Given the description of an element on the screen output the (x, y) to click on. 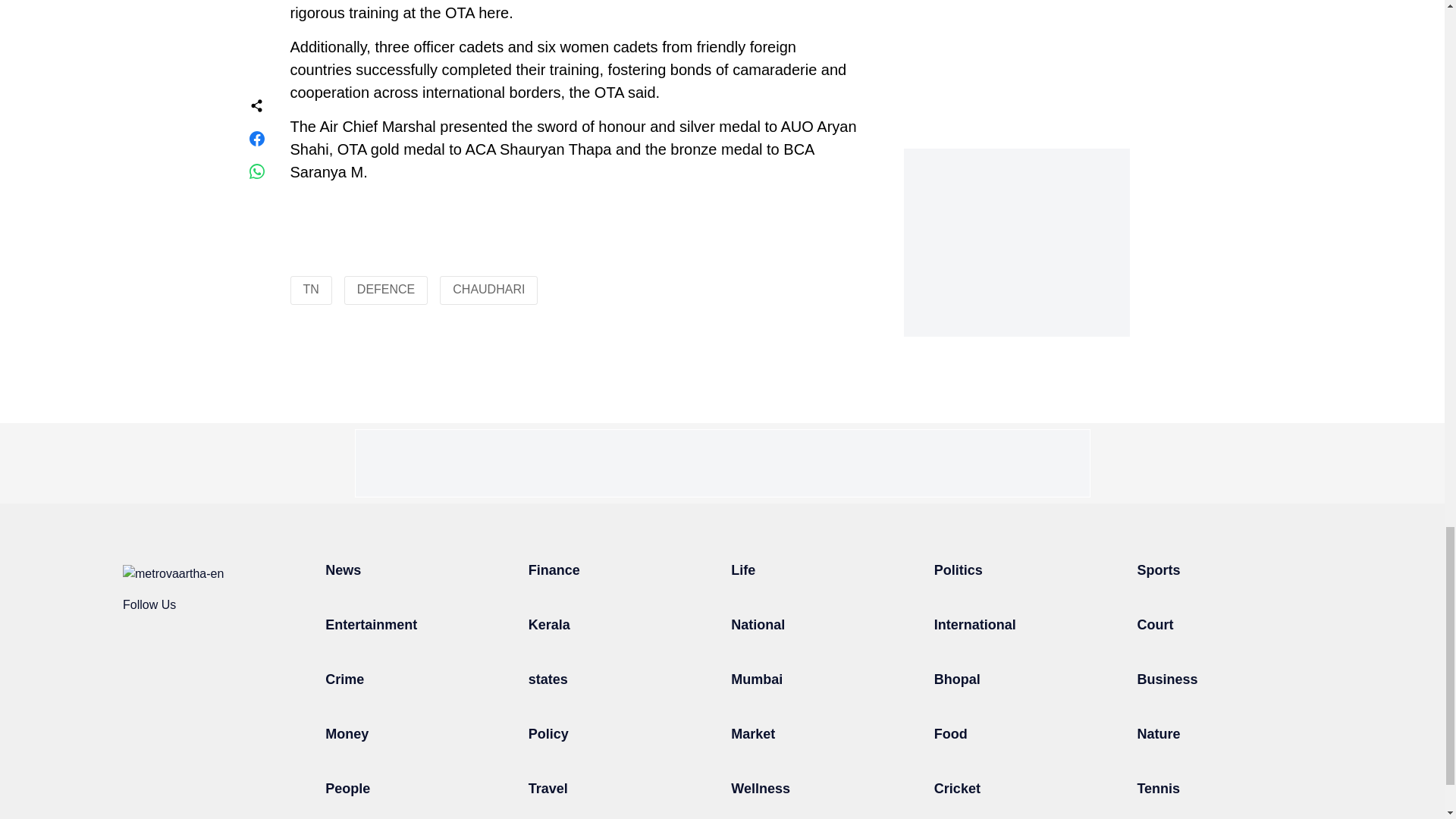
National (757, 624)
Kerala (549, 624)
Crime (344, 679)
Finance (553, 570)
states (547, 679)
Entertainment (370, 624)
News (342, 570)
CHAUDHARI (488, 288)
TN (310, 288)
Court (1155, 624)
